Given the description of an element on the screen output the (x, y) to click on. 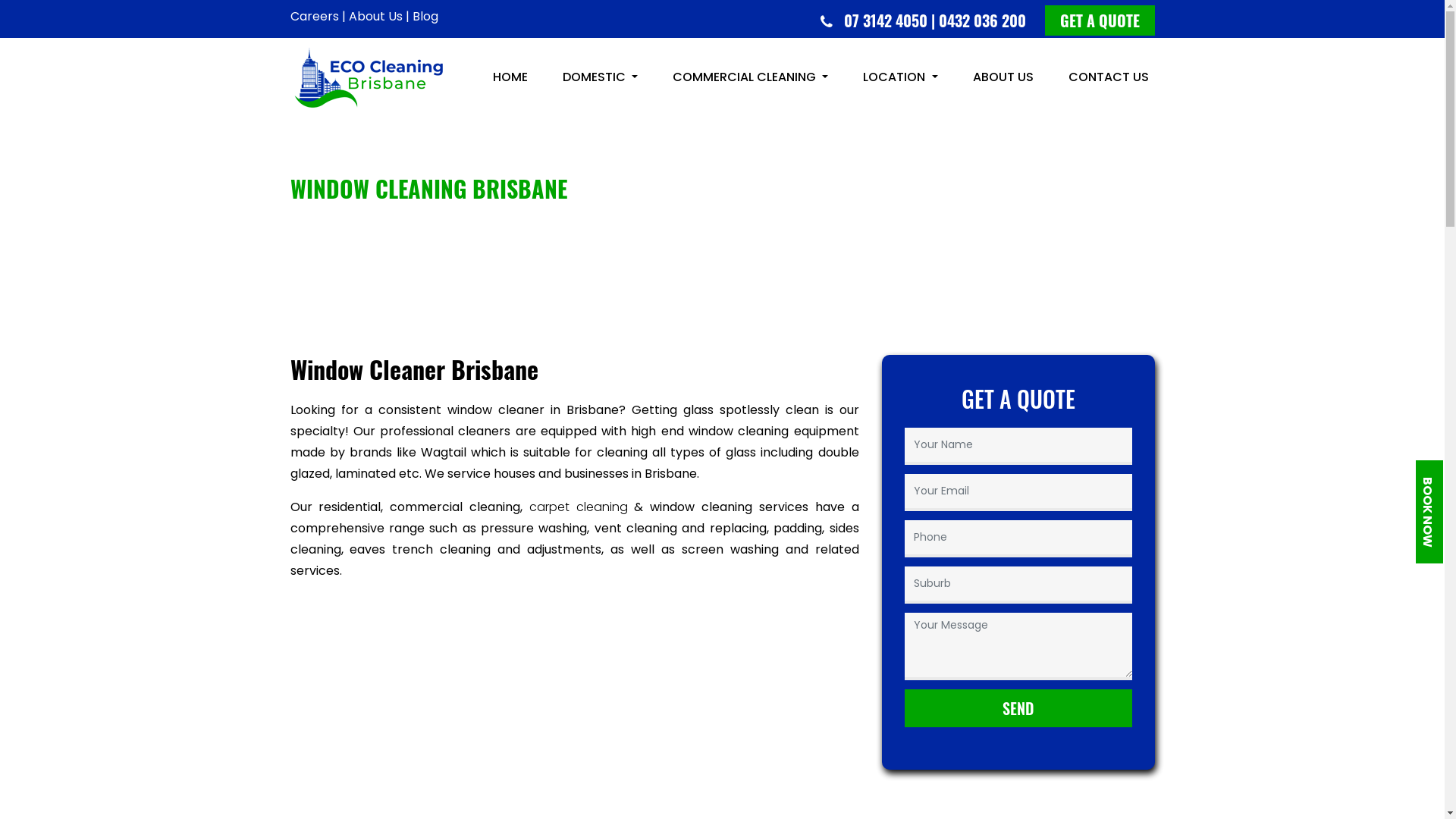
Careers | Element type: text (317, 16)
COMMERCIAL CLEANING Element type: text (750, 77)
07 3142 4050 | 0432 036 200 Element type: text (937, 20)
GET A QUOTE Element type: text (1099, 20)
LOCATION Element type: text (899, 77)
Blog Element type: text (425, 16)
SEND Element type: text (1017, 708)
HOME Element type: text (509, 77)
CONTACT US Element type: text (1107, 77)
DOMESTIC Element type: text (599, 77)
ABOUT US Element type: text (1002, 77)
About Us | Element type: text (378, 16)
